Given the description of an element on the screen output the (x, y) to click on. 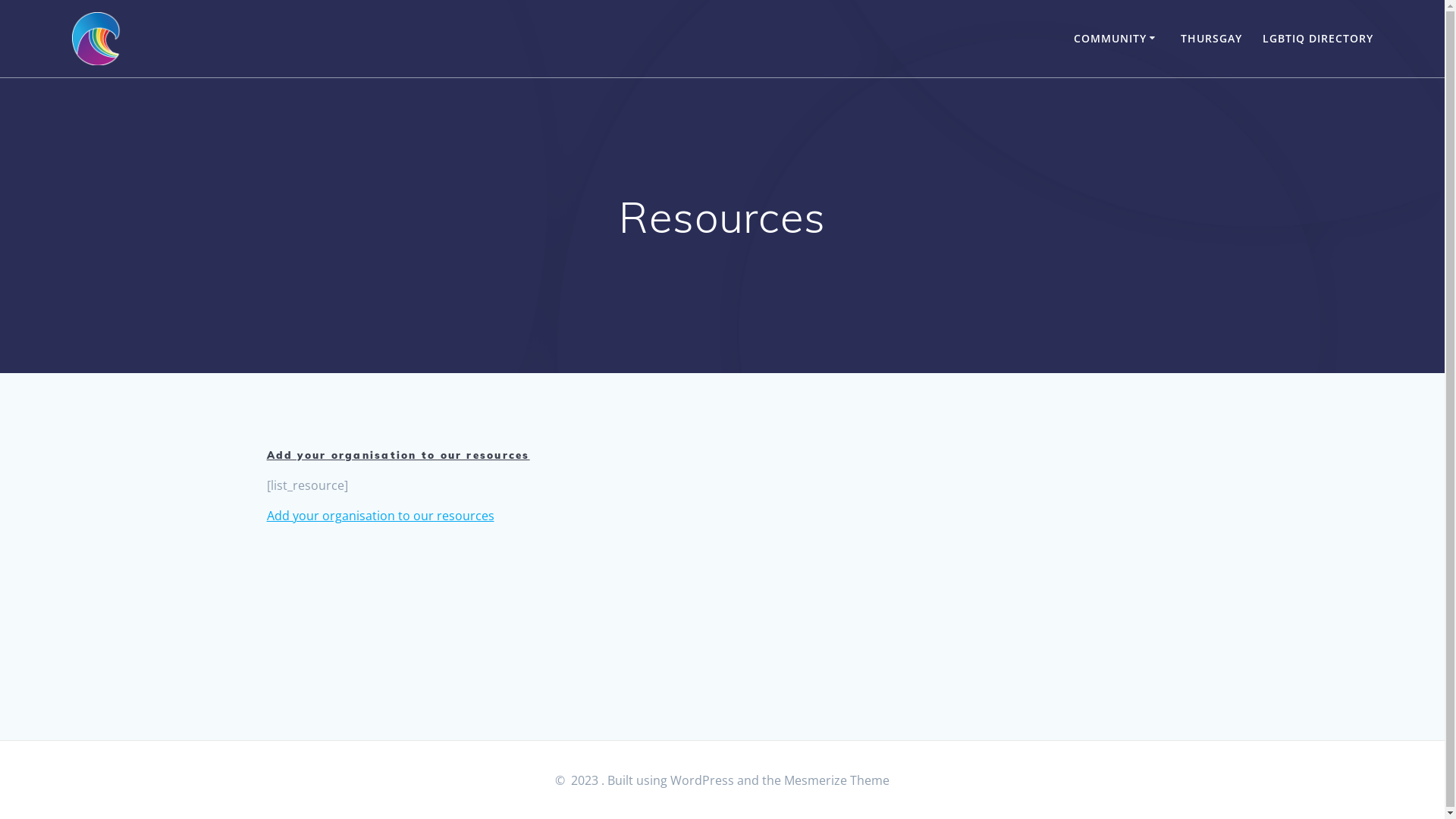
THURSGAY Element type: text (1211, 38)
COMMUNITY Element type: text (1116, 38)
Mesmerize Theme Element type: text (836, 779)
LGBTIQ DIRECTORY Element type: text (1317, 38)
Add your organisation to our resources Element type: text (398, 454)
Add your organisation to our resources Element type: text (380, 515)
